Given the description of an element on the screen output the (x, y) to click on. 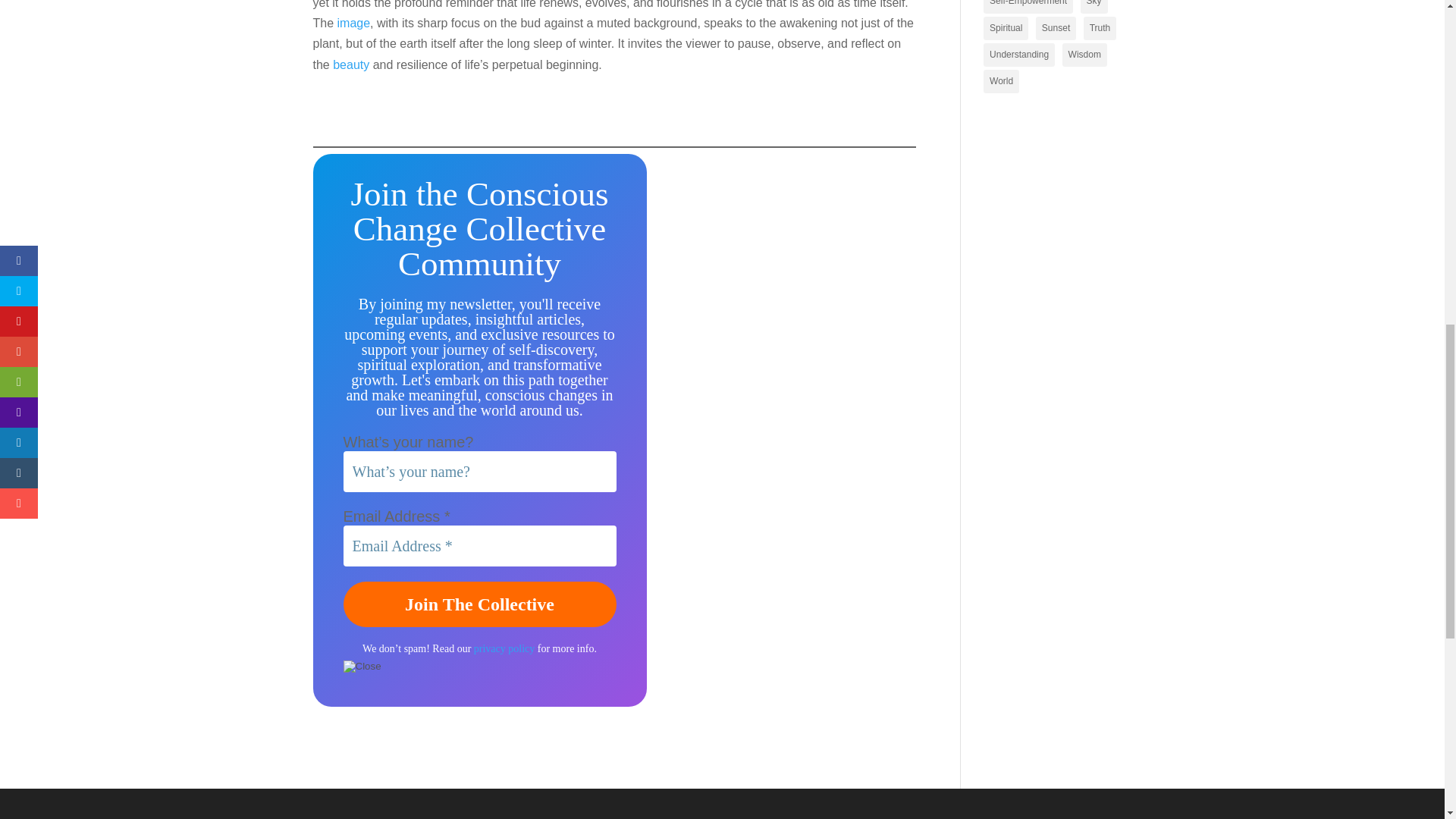
image (354, 22)
Join The Collective (478, 604)
Posts tagged with Beauty (351, 63)
Posts tagged with Image (354, 22)
beauty (351, 63)
Join The Collective (478, 604)
Email Address (478, 545)
privacy policy (504, 648)
